Given the description of an element on the screen output the (x, y) to click on. 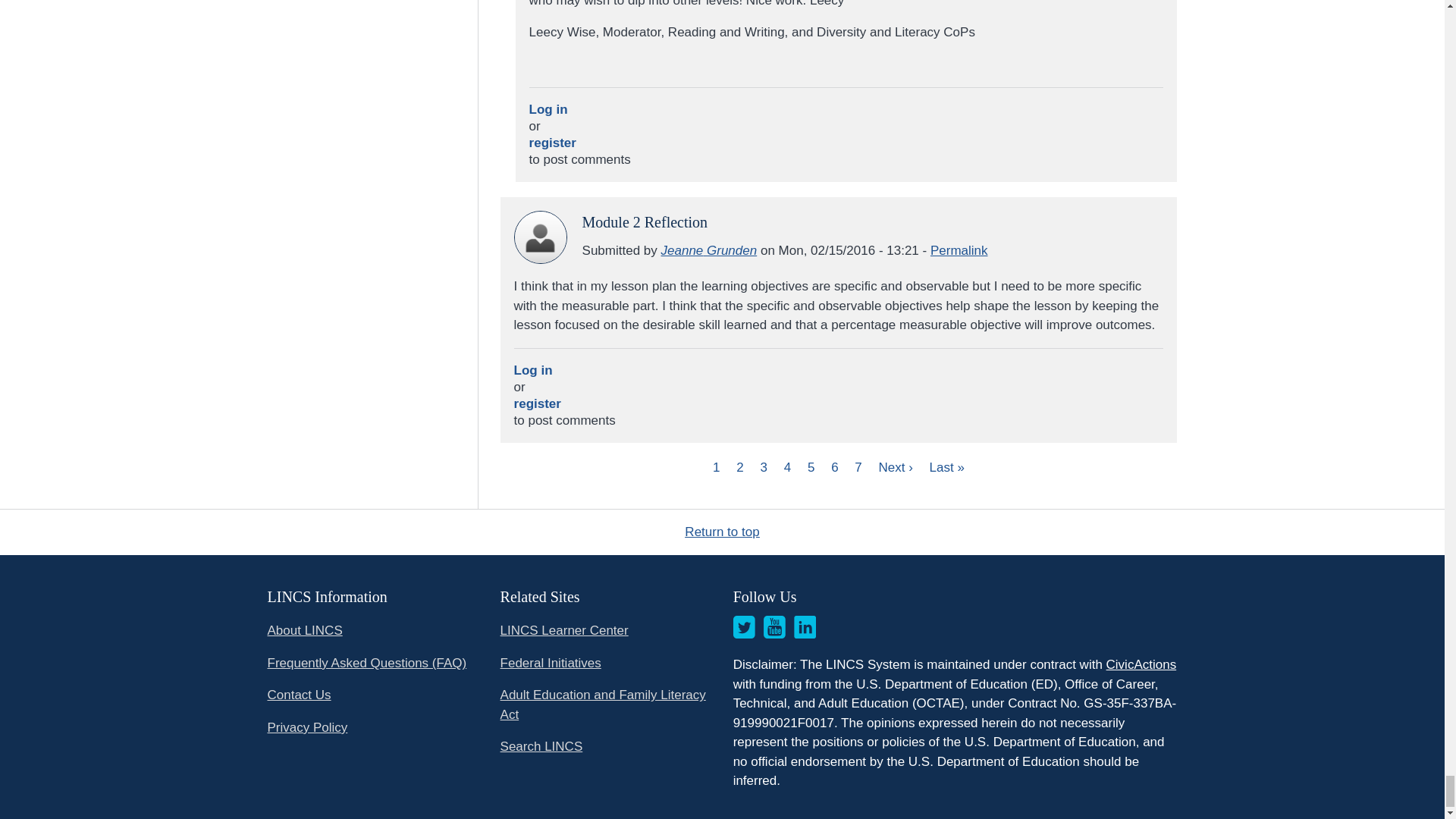
Go to next page (898, 467)
Watch LINCS videos on YouTube! (774, 626)
Join LINCS on LinkedIn! (804, 626)
Follow LINCS on Twitter! (744, 626)
Go to last page (946, 467)
